Given the description of an element on the screen output the (x, y) to click on. 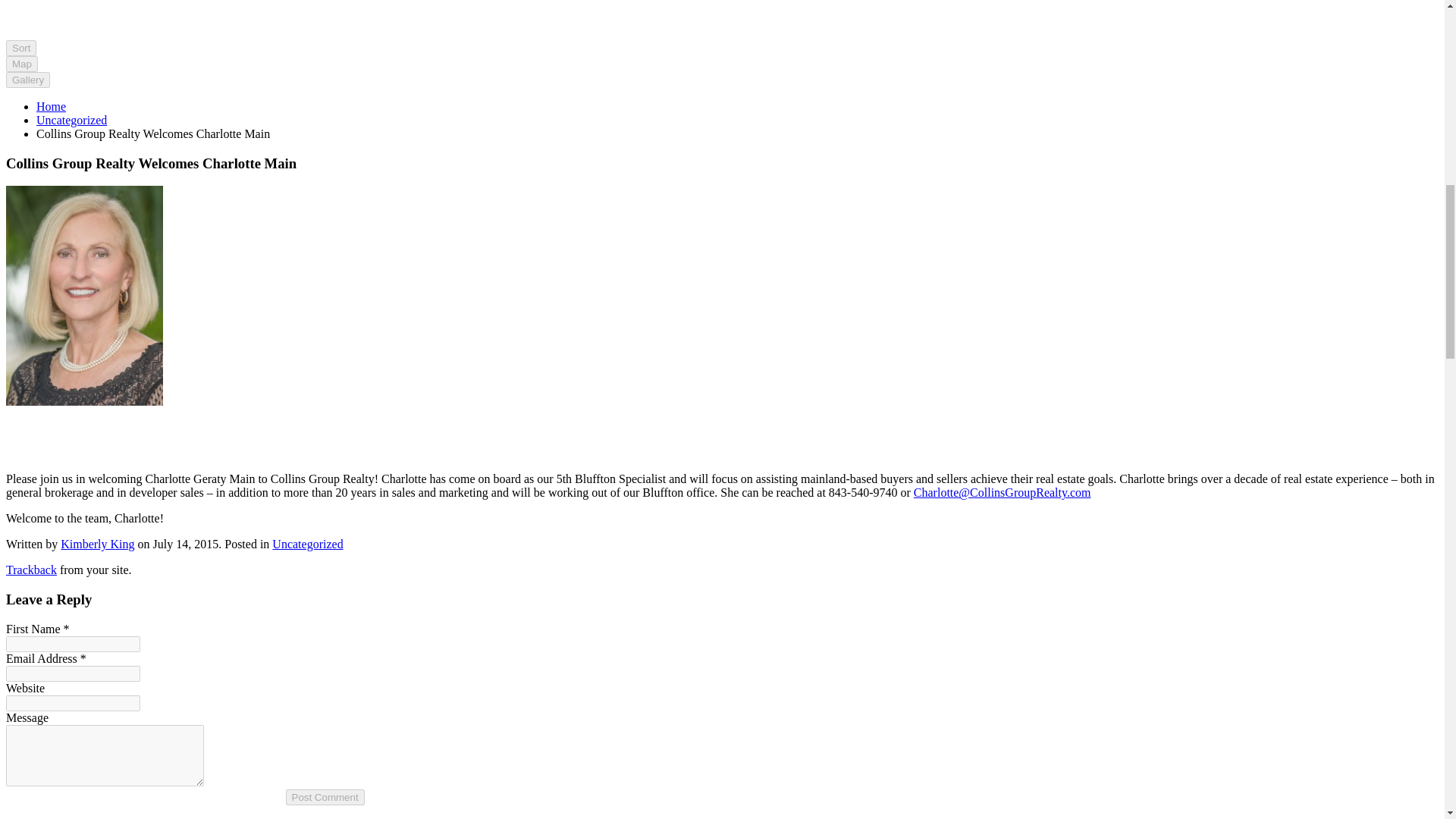
Map View (21, 62)
Kimberly King (97, 543)
Gallery View (27, 78)
